Given the description of an element on the screen output the (x, y) to click on. 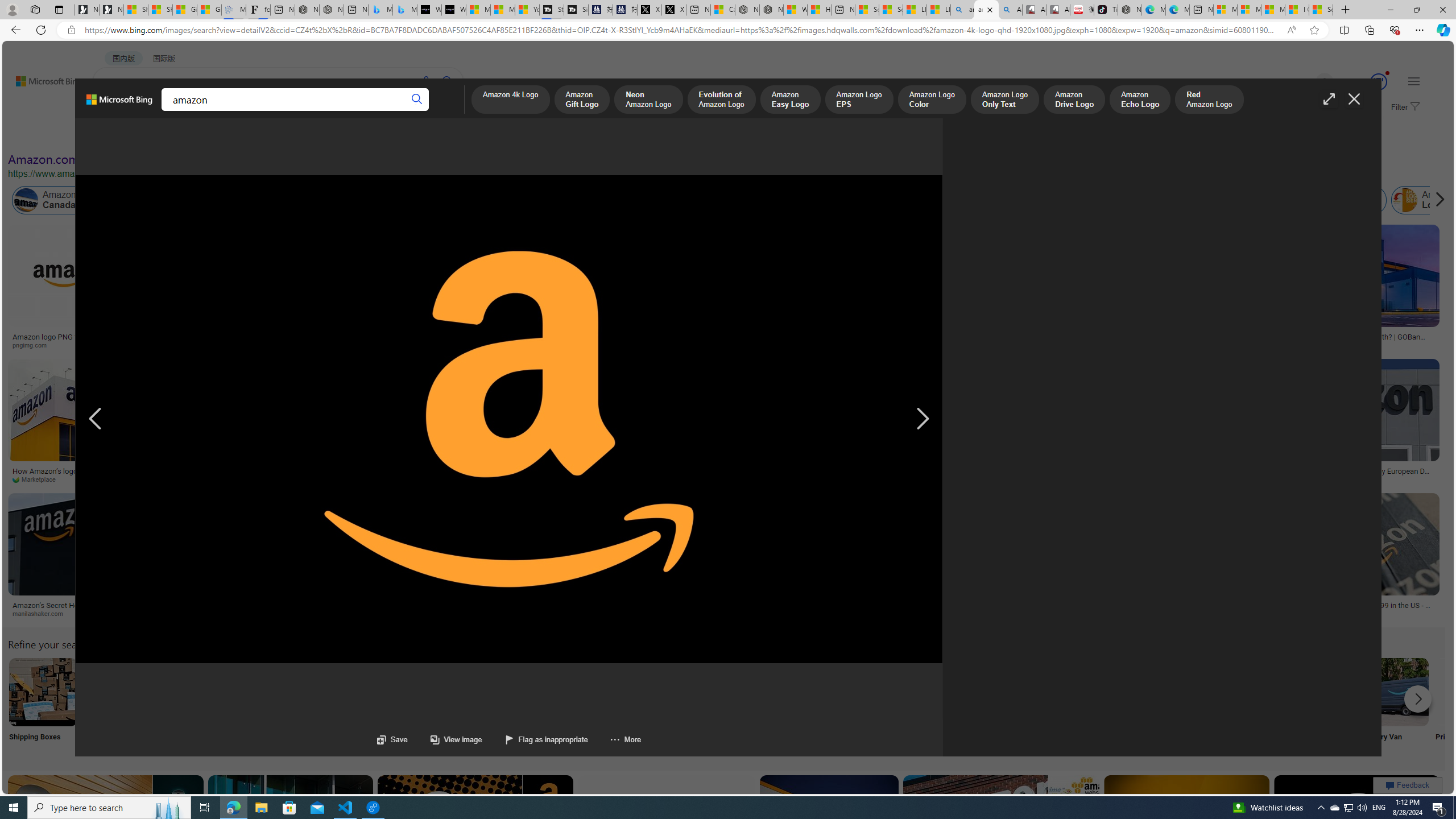
amazon - Search (962, 9)
Amazon Kids (239, 200)
Listen: What's next for Amazon?usatoday.comSave (373, 289)
Sign My Account (718, 706)
Amazon Prime Label Prime Label (1018, 706)
ACADEMIC (311, 111)
Amazon Easy Logo (790, 100)
Amazonprotothema.grSave (469, 557)
